Given the description of an element on the screen output the (x, y) to click on. 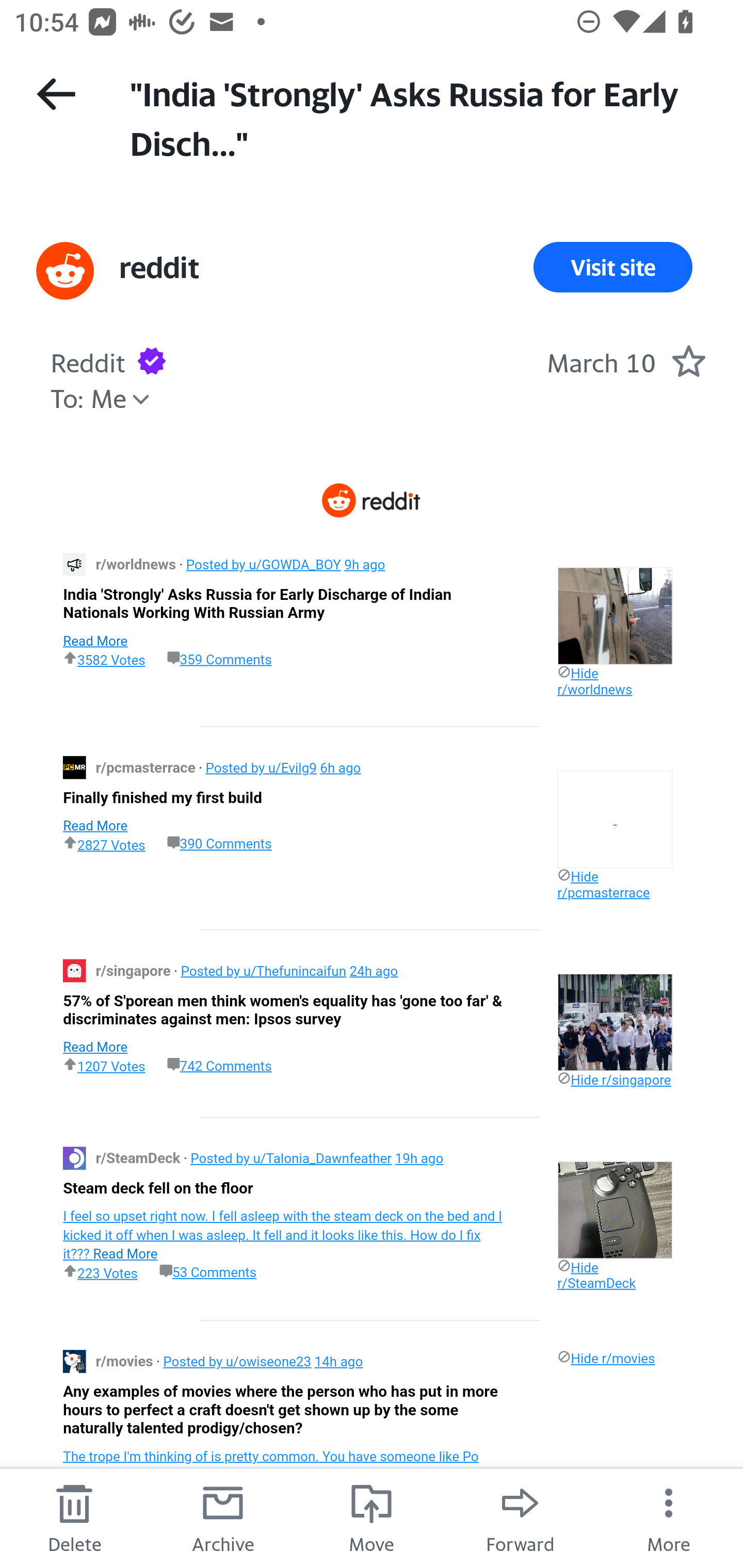
Back (55, 93)
"India 'Strongly' Asks Russia for Early Disch..." (418, 116)
View all messages from sender (64, 270)
Visit site Visit Site Link (612, 267)
reddit Sender reddit (158, 266)
Reddit Sender Reddit (88, 360)
Mark as starred. (688, 361)
4fTeUxATbFlzSUuv5Scb57qX_qc2JLXz8_UEhpd_4KY=343 (74, 563)
r/worldnews (137, 563)
Posted by u/GOWDA_BOY (263, 563)
9h ago (364, 563)
  (614, 615)
Read More (94, 640)
3582 Votes (103, 659)
359 Comments (219, 658)
Hide r/worldnews (594, 680)
wx5GDwVaRt6vs0fkcCDcPPnp2qJLCLHSnuE6svJTpC0=343 (74, 767)
r/pcmasterrace (147, 767)
Posted by u/Evilg9 (260, 767)
6h ago (340, 767)
Finally finished my first build (162, 797)
Read More (94, 825)
2827 Votes (103, 843)
390 Comments (219, 843)
Hide r/pcmasterrace (603, 884)
cEQaTERKtnD74Eq-yCm_qtdZ6s2VFO80cq3SRcTb94c=343 (74, 971)
r/singapore (134, 970)
Posted by u/Thefunincaifun (262, 970)
24h ago (373, 970)
  (614, 1021)
Read More (94, 1046)
1207 Votes (103, 1065)
742 Comments (219, 1065)
Hide r/singapore (613, 1079)
svN_Q0sL71-5jbYNA2YOTxOKn3ZrmadGU24odVSnSsE=343 (74, 1157)
r/SteamDeck (139, 1157)
Posted by u/Talonia_Dawnfeather (291, 1157)
19h ago (419, 1157)
  (614, 1208)
Steam deck fell on the floor (157, 1188)
Hide r/SteamDeck (596, 1274)
223 Votes (100, 1272)
53 Comments (208, 1272)
mwdS48_lPL6Pm0musEJj8wlVsDPLCLe64oVL9oX7U3g=343 (74, 1361)
Hide r/movies (605, 1357)
r/movies (125, 1361)
Posted by u/owiseone23 (236, 1361)
14h ago (338, 1361)
Delete (74, 1517)
Archive (222, 1517)
Move (371, 1517)
Forward (519, 1517)
More (668, 1517)
